Given the description of an element on the screen output the (x, y) to click on. 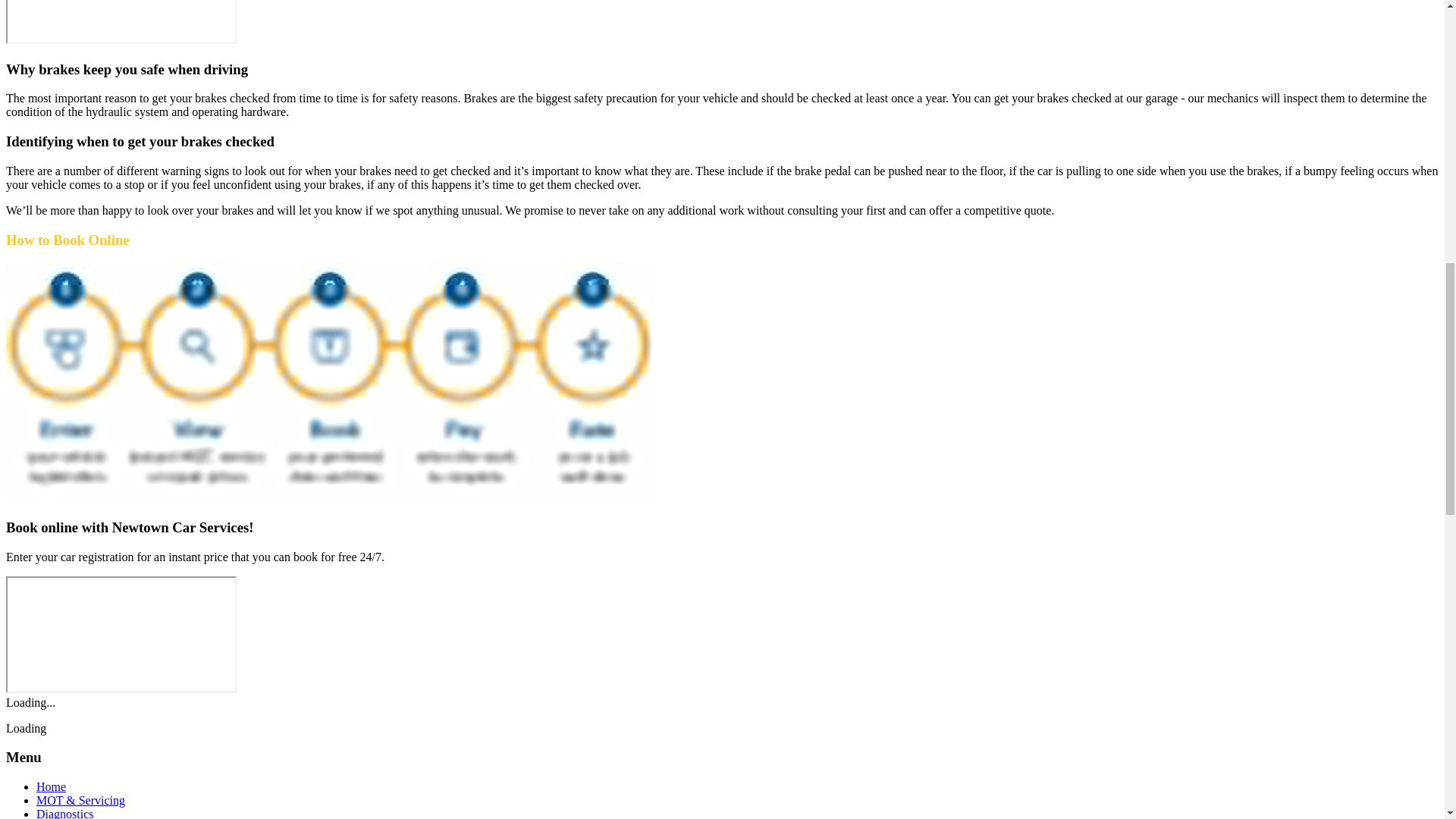
Booking Widget (120, 22)
Diagnostics (65, 813)
Booking Widget (120, 634)
Home (50, 786)
